Given the description of an element on the screen output the (x, y) to click on. 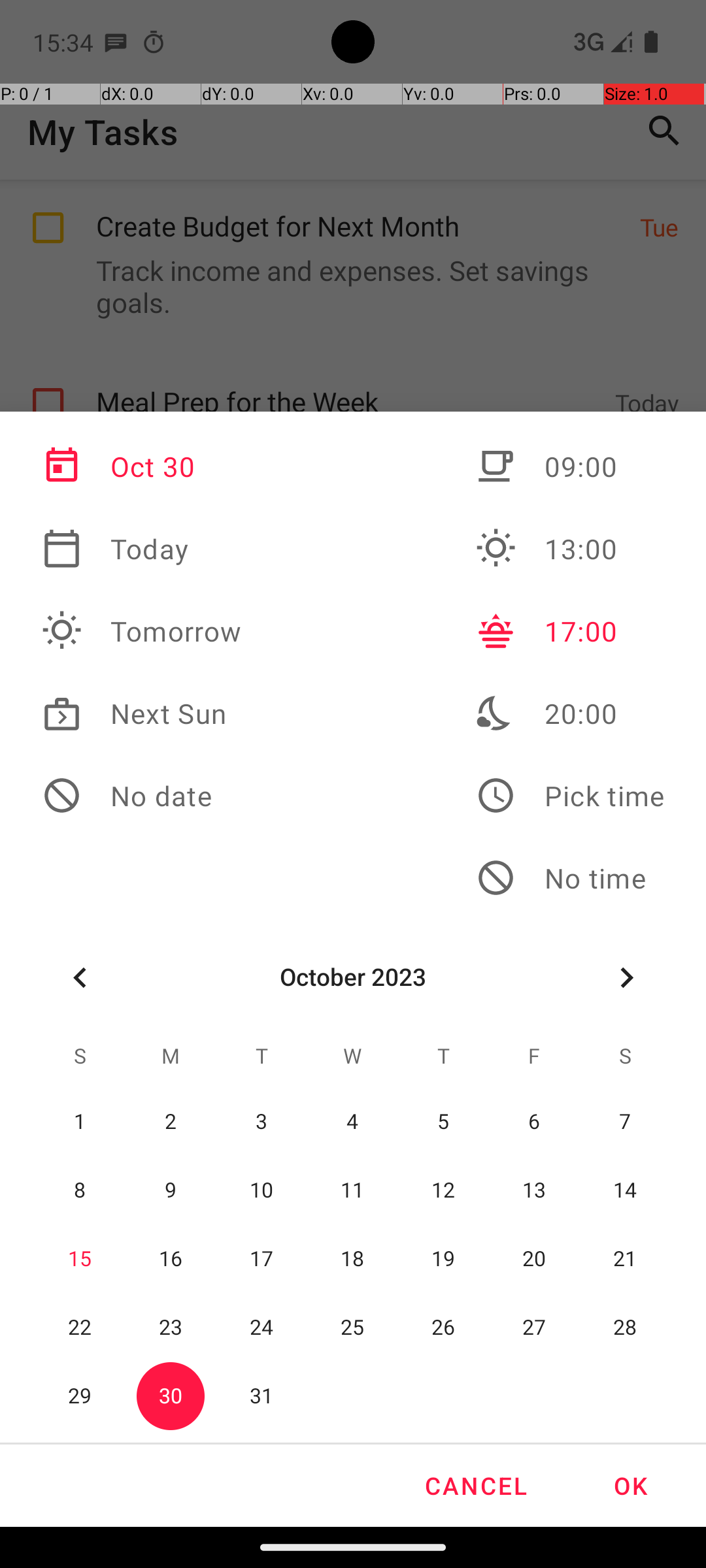
Oct 30 Element type: android.widget.CompoundButton (141, 466)
